Given the description of an element on the screen output the (x, y) to click on. 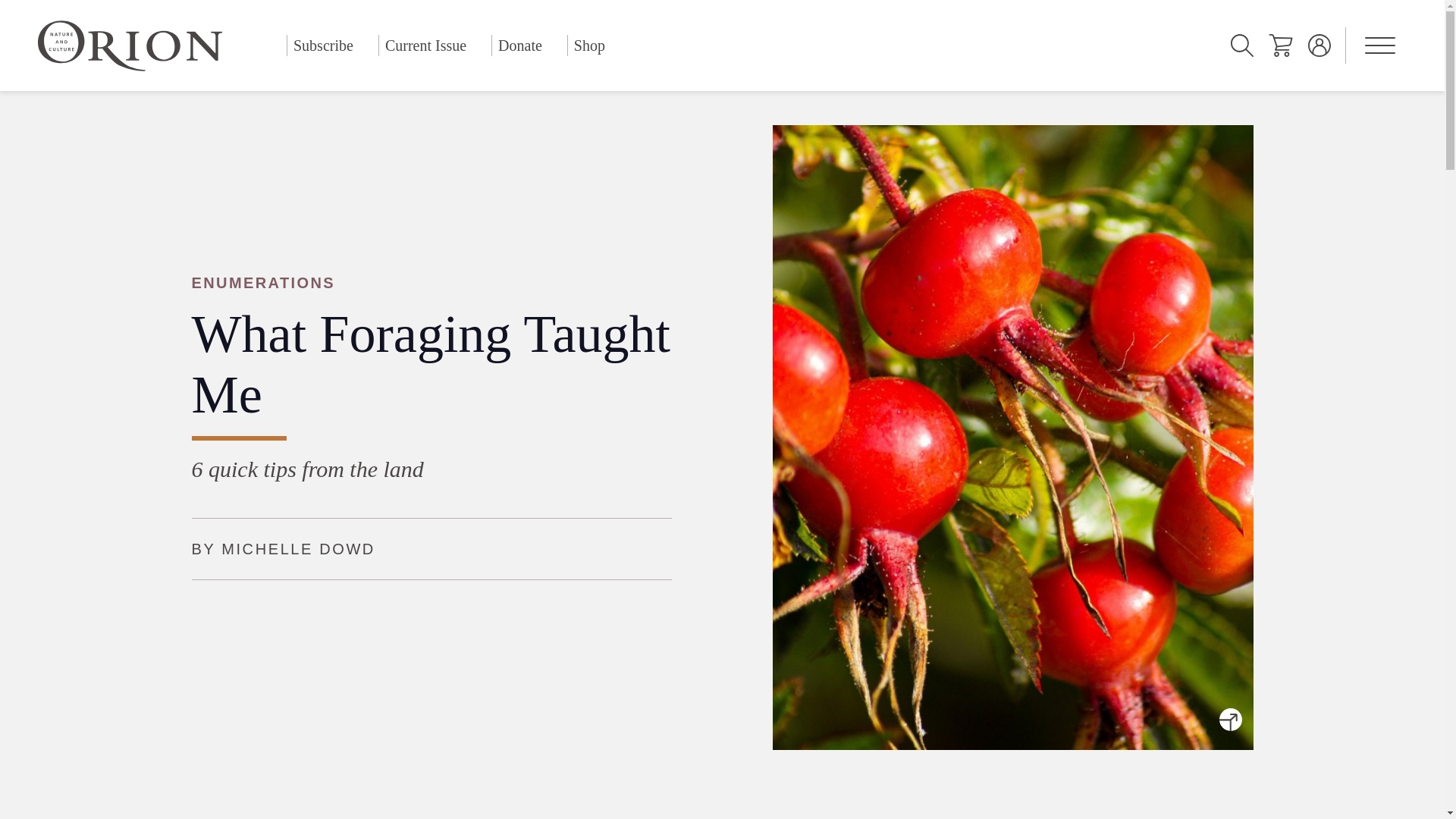
ENUMERATIONS (430, 282)
Donate (520, 45)
EXPAND IMAGE CAPTION (1229, 719)
Current Issue (424, 45)
Cart (1280, 45)
Shop (589, 45)
MICHELLE DOWD (298, 548)
Subscribe (322, 45)
Search (1242, 45)
Account Dashboard (1319, 45)
